Given the description of an element on the screen output the (x, y) to click on. 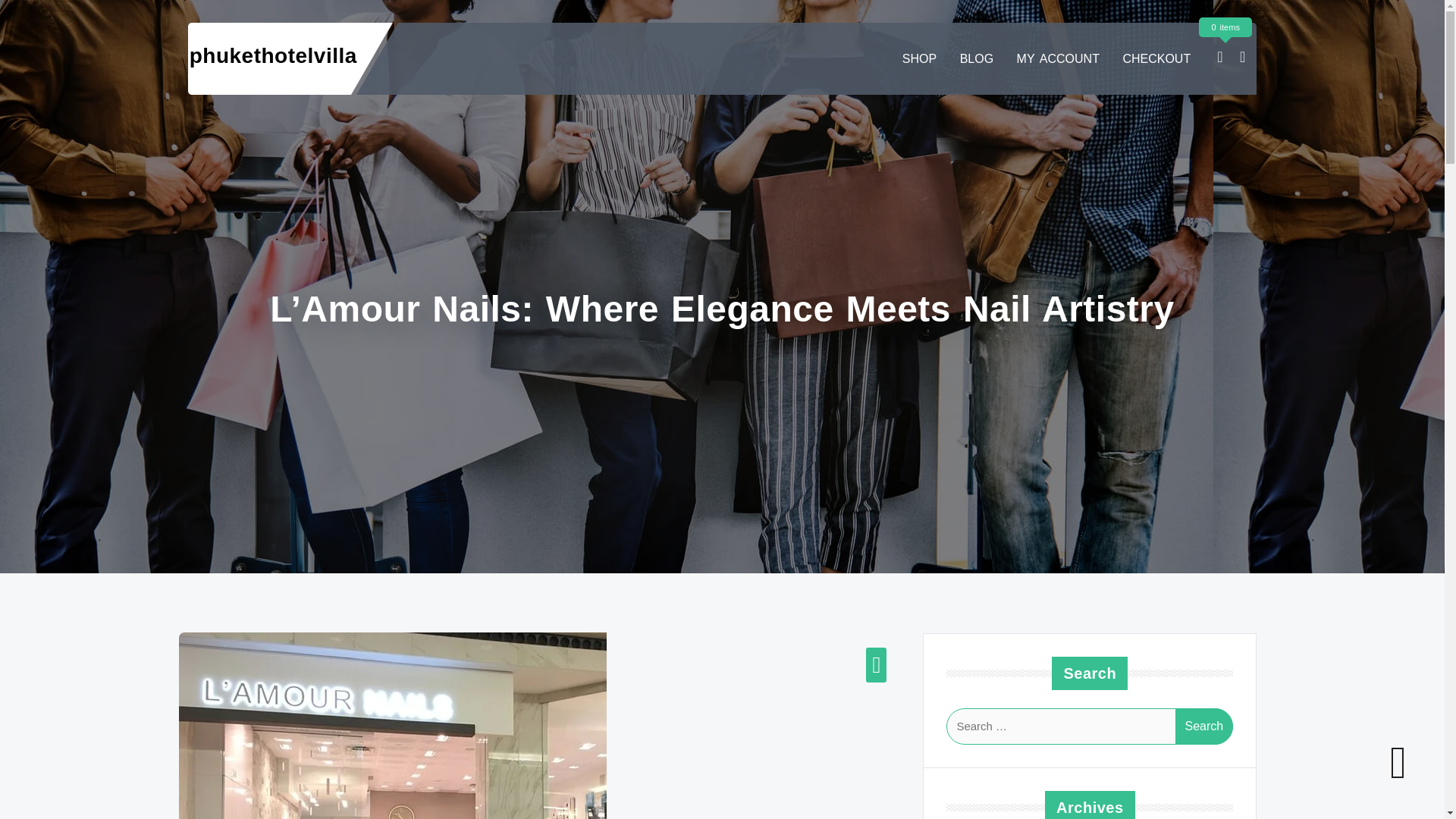
BLOG (976, 58)
Search (1203, 726)
Search (1203, 726)
MY ACCOUNT (1057, 58)
CHECKOUT (1156, 58)
Search (1203, 726)
phukethotelvilla (272, 55)
SHOP (918, 58)
